Given the description of an element on the screen output the (x, y) to click on. 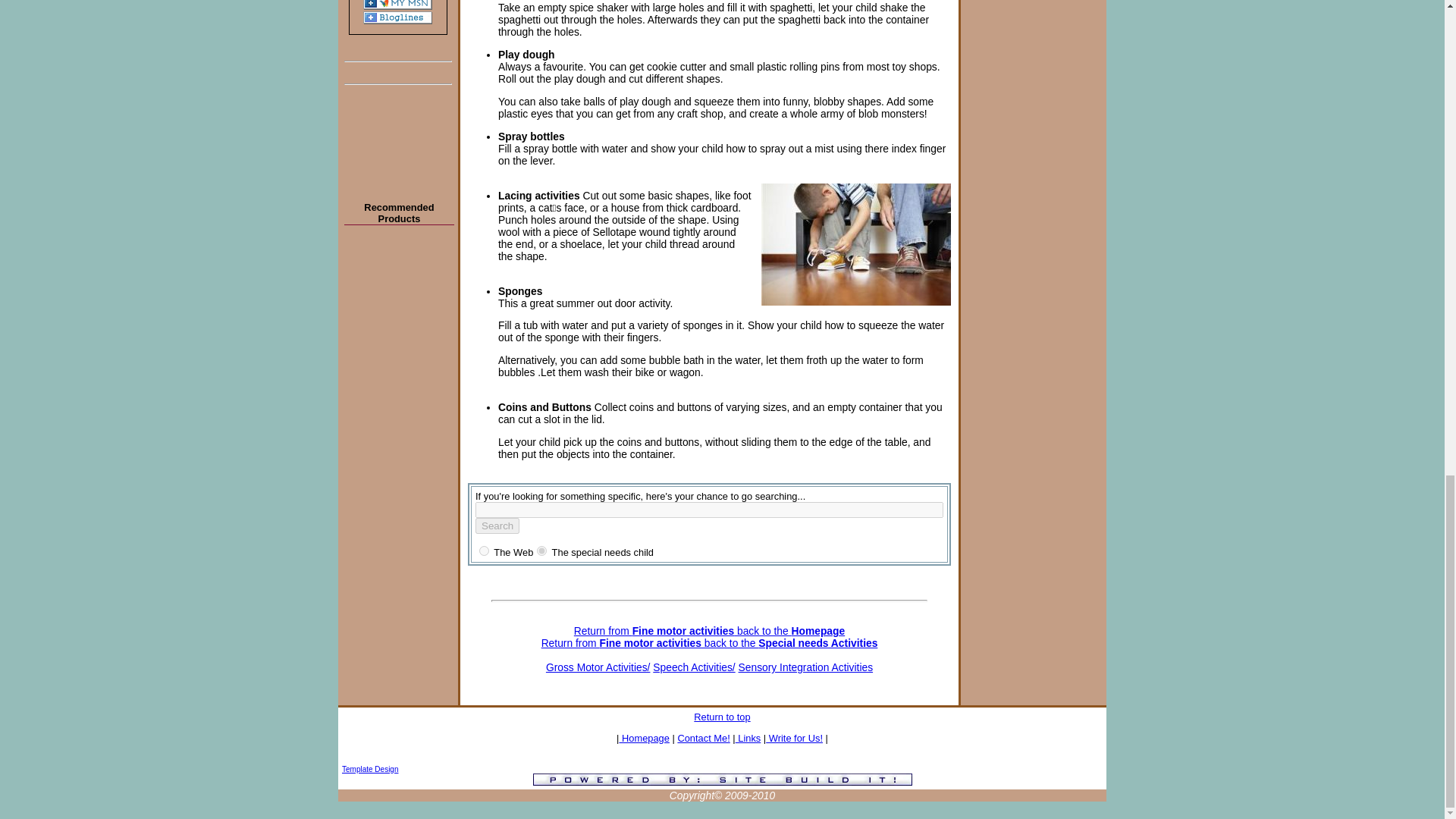
Search (497, 525)
Return from Fine motor activities back to the Homepage (708, 636)
Search (497, 525)
The-special-needs-child.com (542, 551)
Sensory Integration Activities (805, 666)
